Given the description of an element on the screen output the (x, y) to click on. 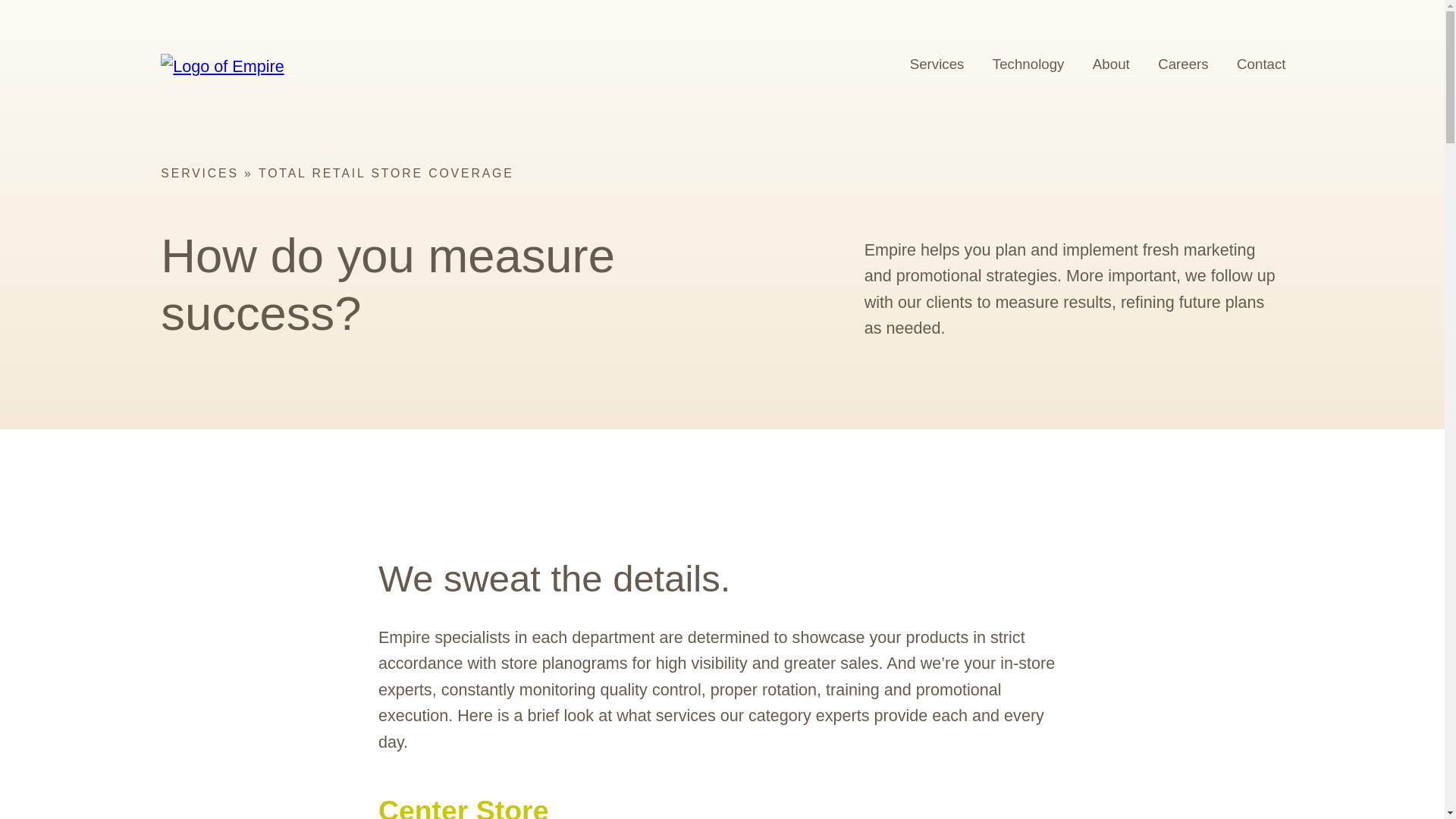
SERVICES (199, 173)
About (1110, 63)
Technology (1028, 63)
Contact (1261, 63)
Careers (1182, 63)
Services (937, 63)
